Given the description of an element on the screen output the (x, y) to click on. 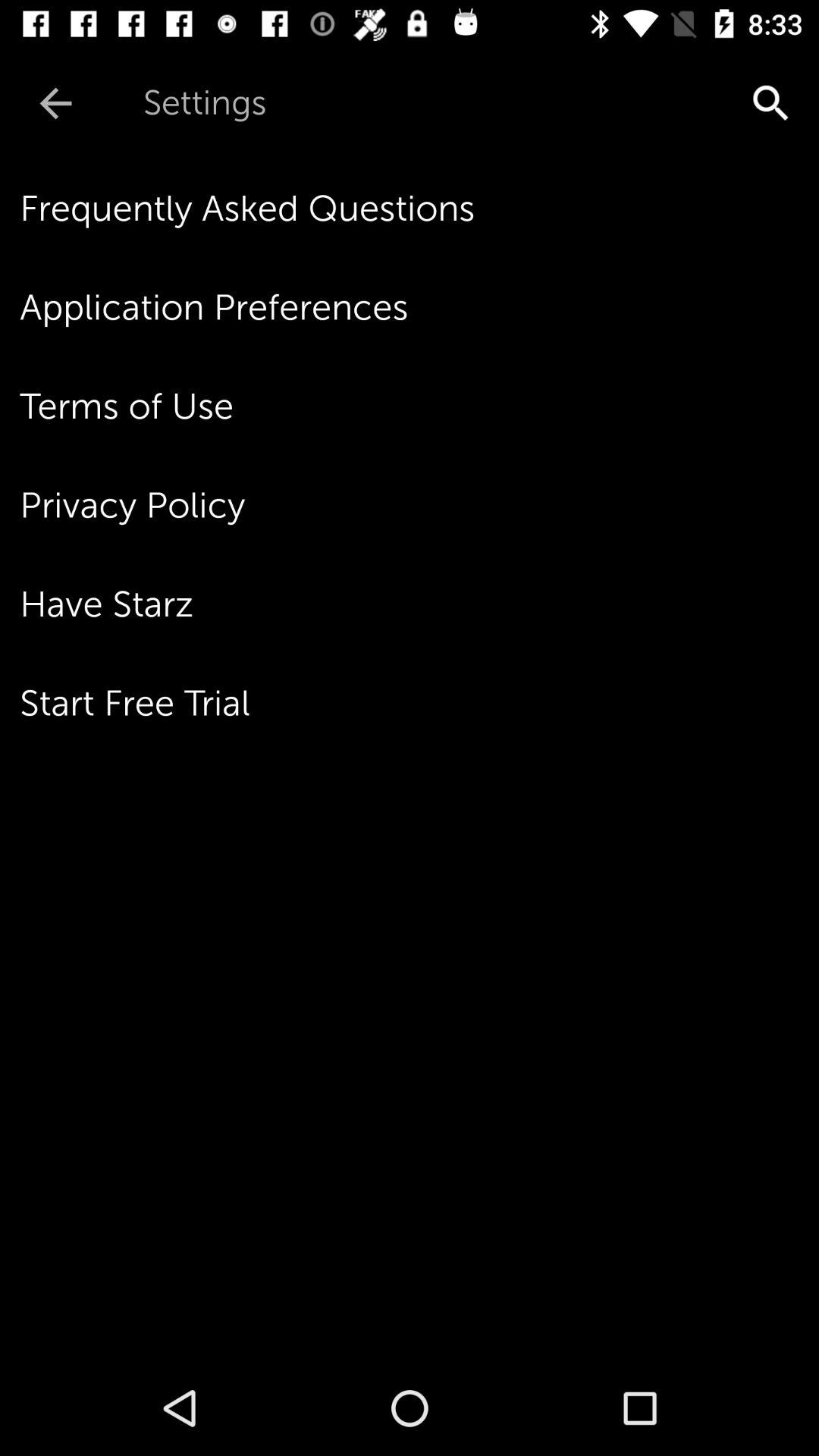
open icon above the application preferences icon (419, 208)
